Given the description of an element on the screen output the (x, y) to click on. 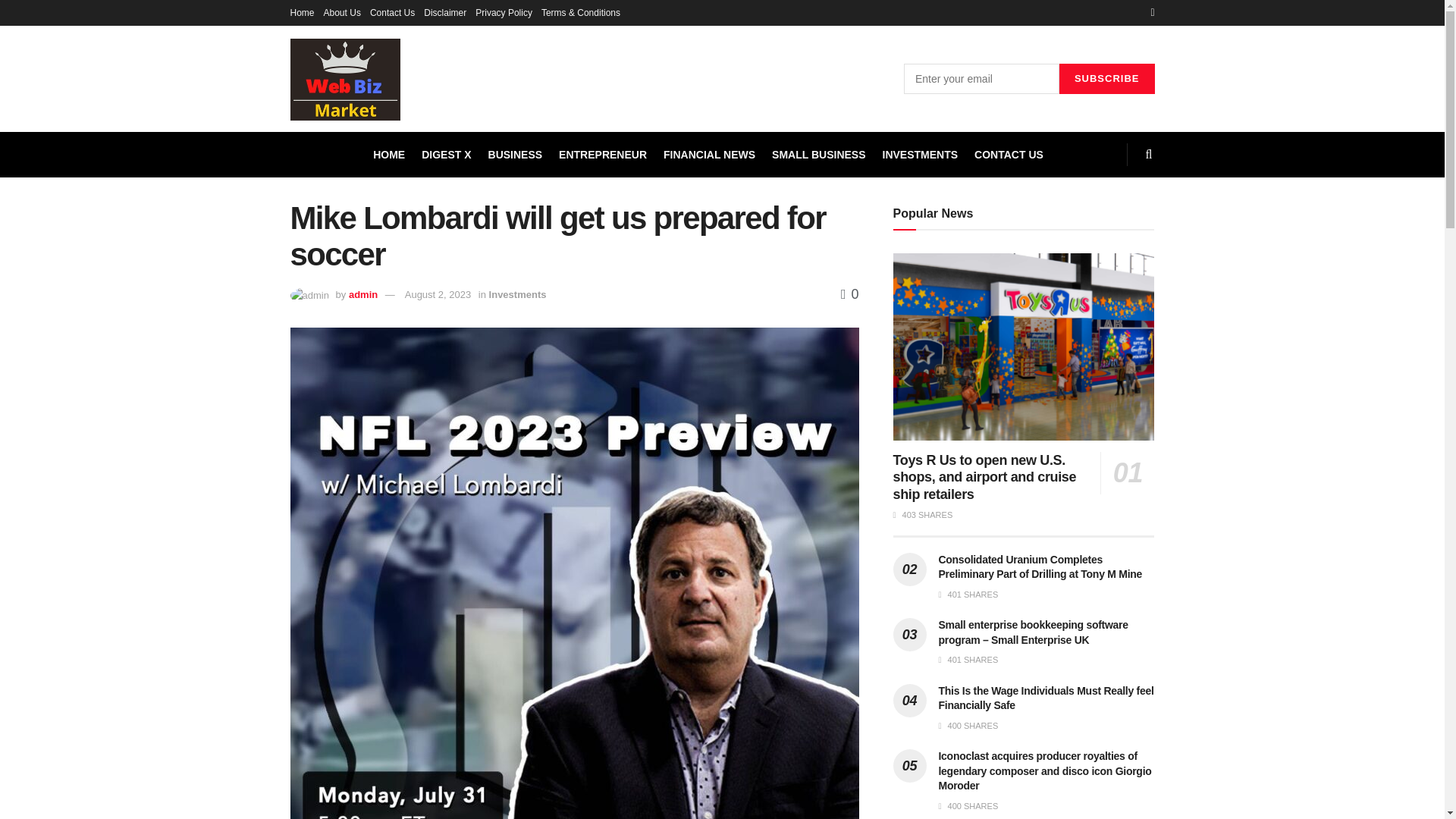
admin (363, 294)
BUSINESS (515, 154)
DIGEST X (446, 154)
Subscribe (1106, 78)
Disclaimer (444, 12)
INVESTMENTS (920, 154)
0 (850, 294)
August 2, 2023 (437, 294)
HOME (388, 154)
Subscribe (1106, 78)
CONTACT US (1008, 154)
ENTREPRENEUR (602, 154)
Privacy Policy (504, 12)
Contact Us (391, 12)
Investments (518, 294)
